Given the description of an element on the screen output the (x, y) to click on. 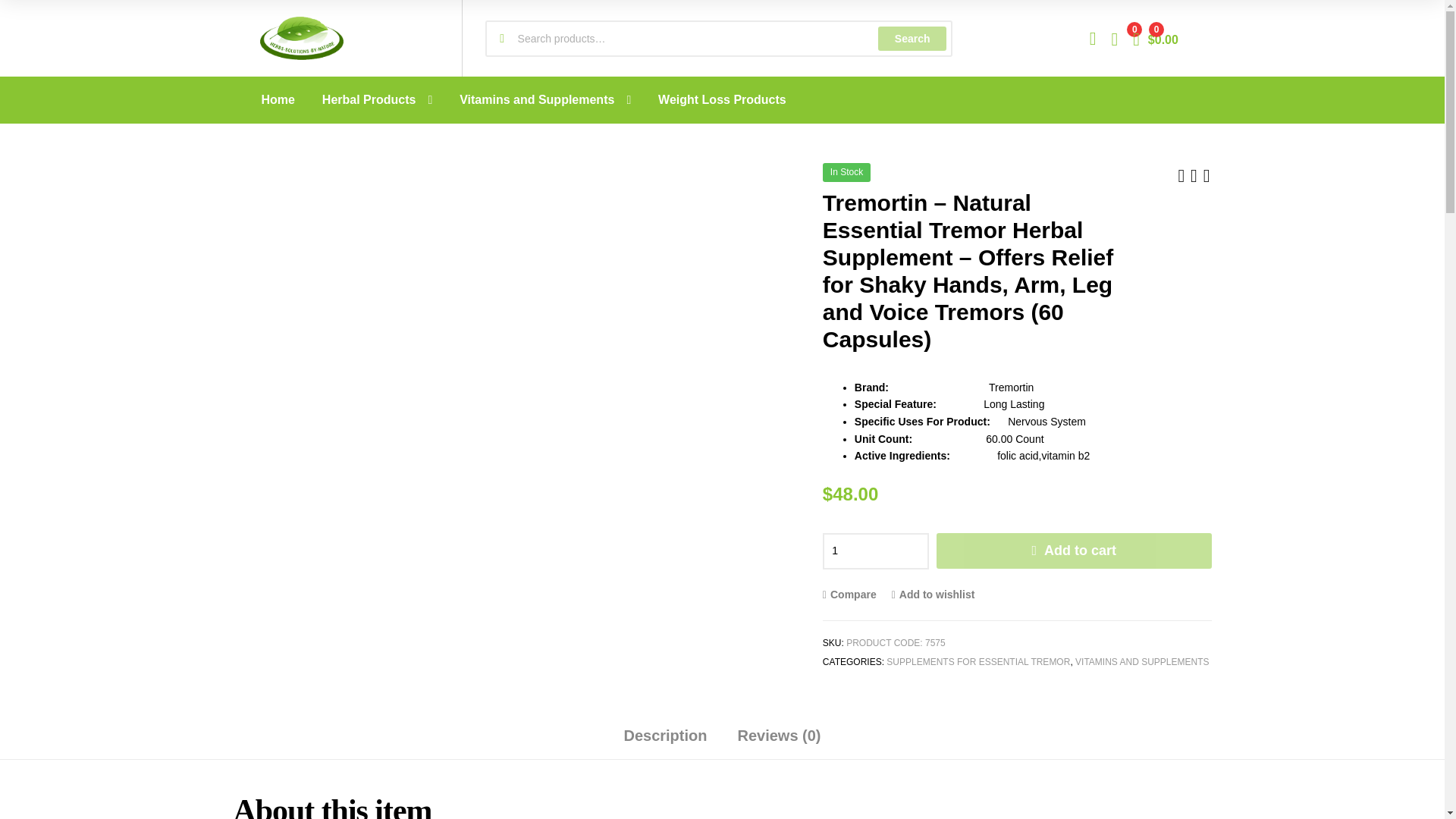
SUPPLEMENTS FOR ESSENTIAL TREMOR (978, 661)
Home (276, 99)
1 (875, 551)
Description (665, 741)
Weight Loss Products (721, 99)
Herbal Products (377, 99)
Search (911, 37)
View your shopping cart (1154, 38)
Vitamins and Supplements (544, 99)
Compare (849, 593)
